Given the description of an element on the screen output the (x, y) to click on. 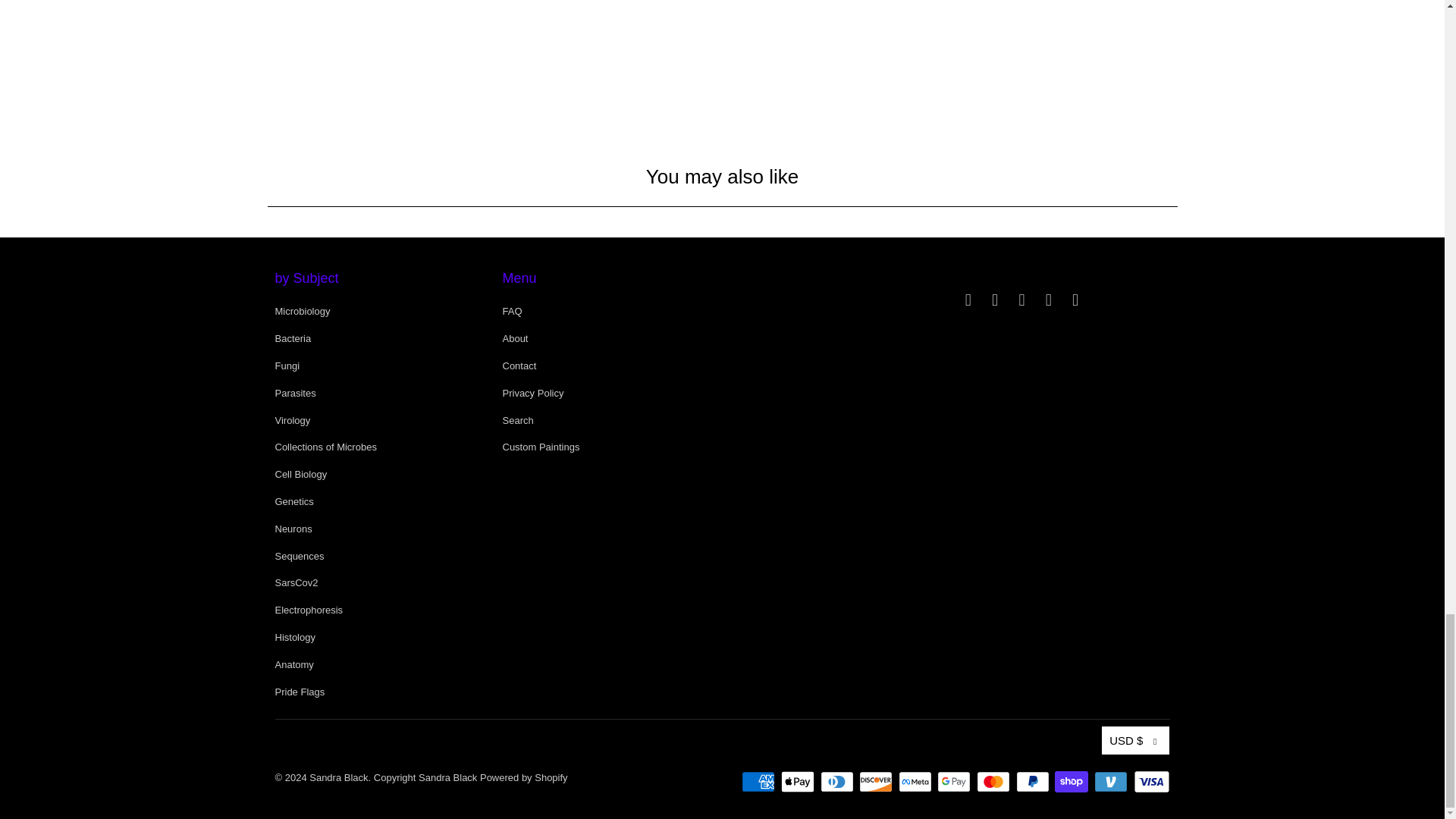
American Express (759, 781)
Mastercard (994, 781)
Directly from the artist. (949, 40)
Venmo (1112, 781)
Diners Club (839, 781)
Visa (1150, 781)
Google Pay (955, 781)
Sandra Black on Twitter (967, 300)
Discover (877, 781)
PayPal (1034, 781)
Shop Pay (1072, 781)
Sandra Black on Tumblr (1021, 300)
Sandra Black on Facebook (995, 300)
Apple Pay (798, 781)
Meta Pay (916, 781)
